Given the description of an element on the screen output the (x, y) to click on. 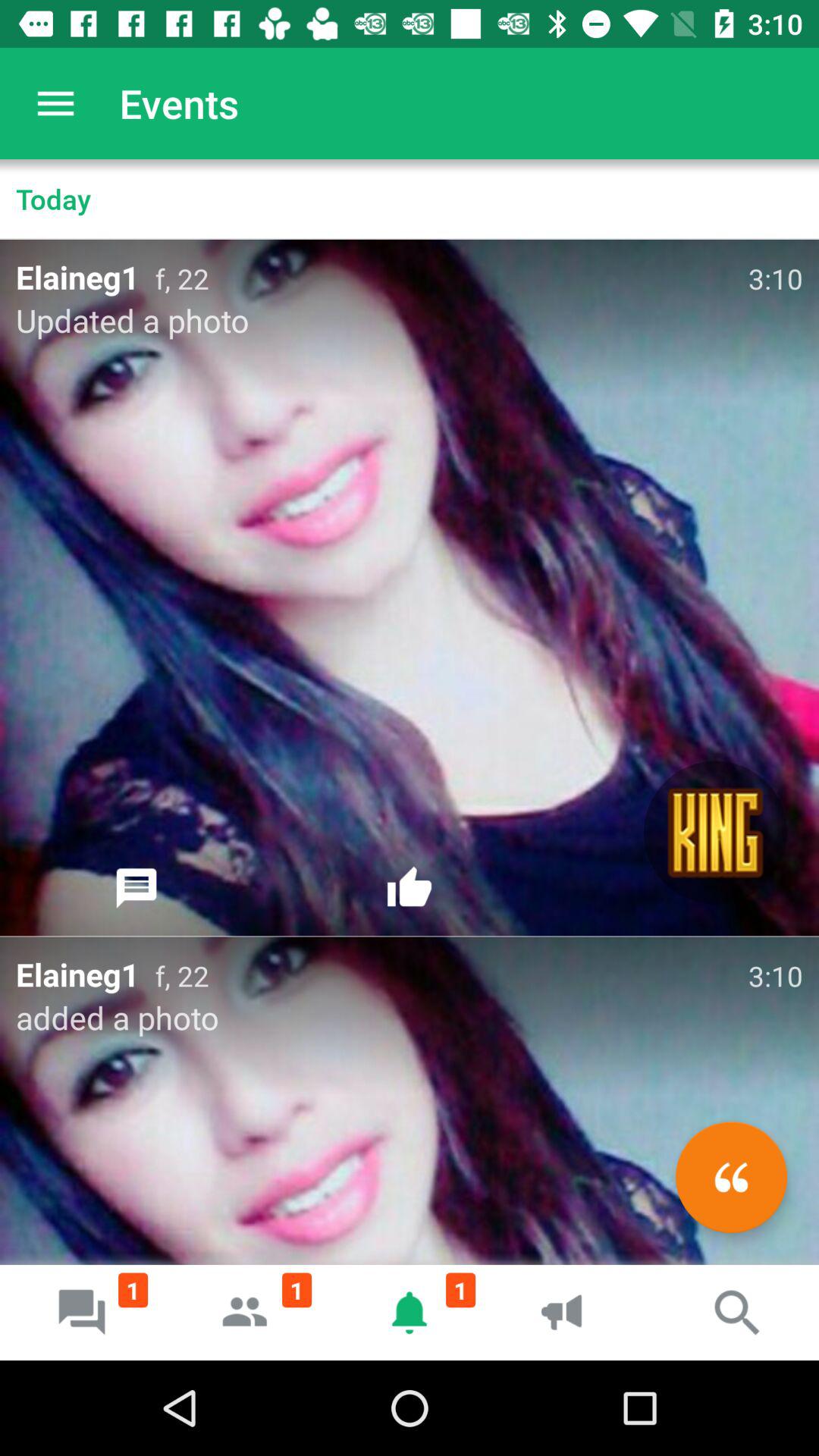
press icon below f, 22 icon (409, 888)
